Given the description of an element on the screen output the (x, y) to click on. 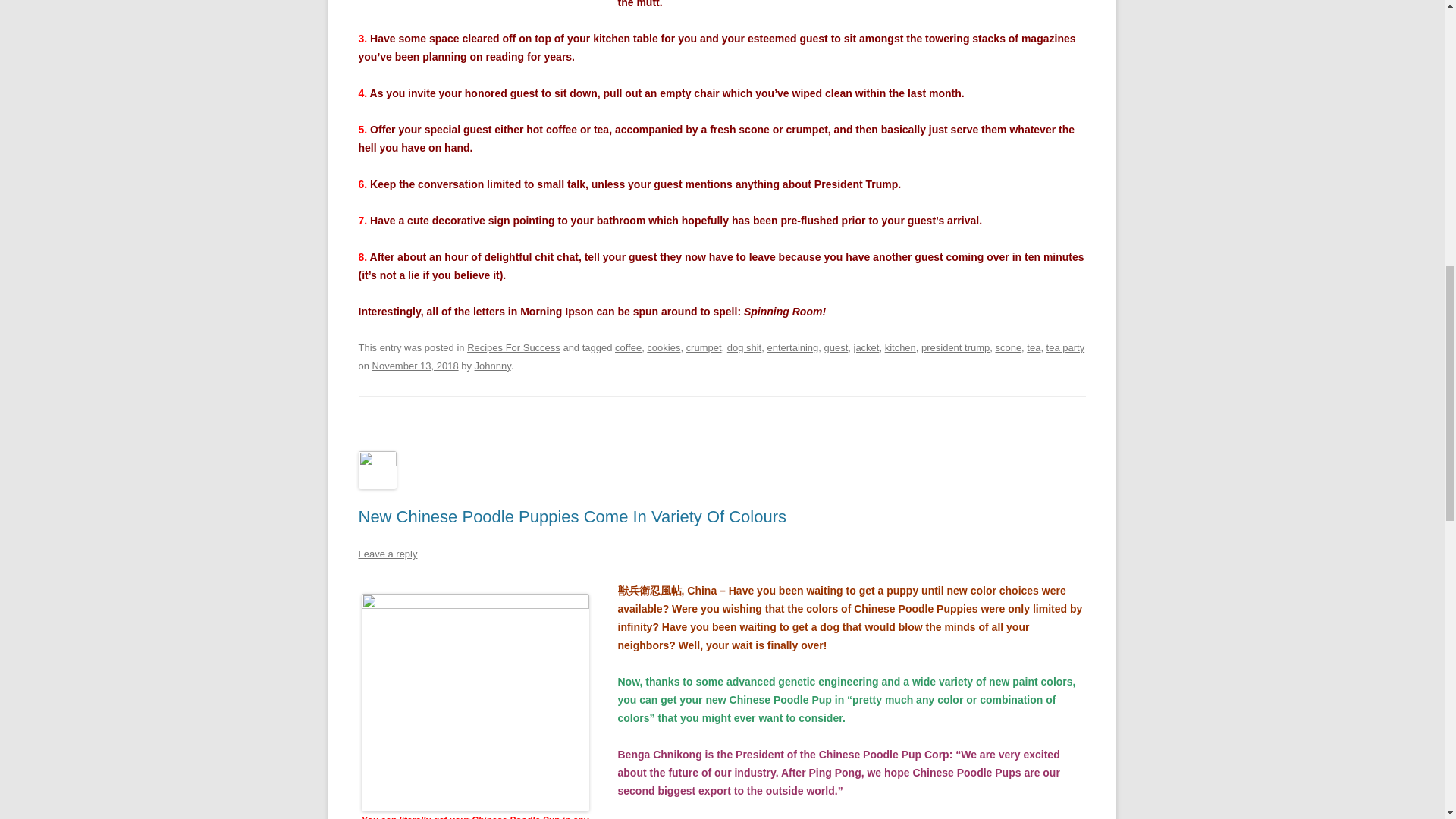
View all posts by Johnnny (492, 365)
6:24 AM (415, 365)
